Given the description of an element on the screen output the (x, y) to click on. 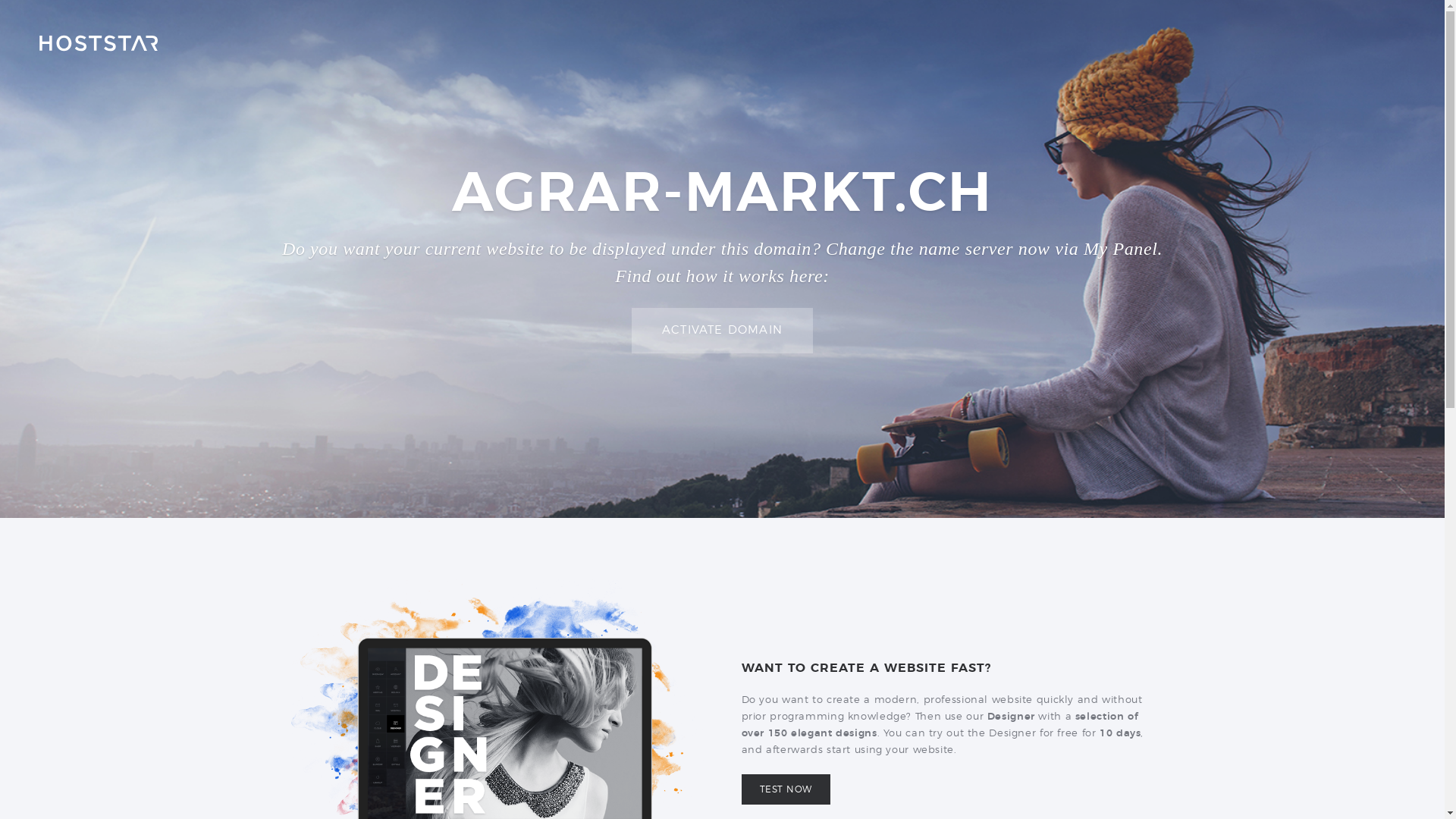
ACTIVATE DOMAIN Element type: text (721, 330)
TEST NOW Element type: text (785, 789)
ACTIVATE DOMAIN Element type: text (721, 330)
